Given the description of an element on the screen output the (x, y) to click on. 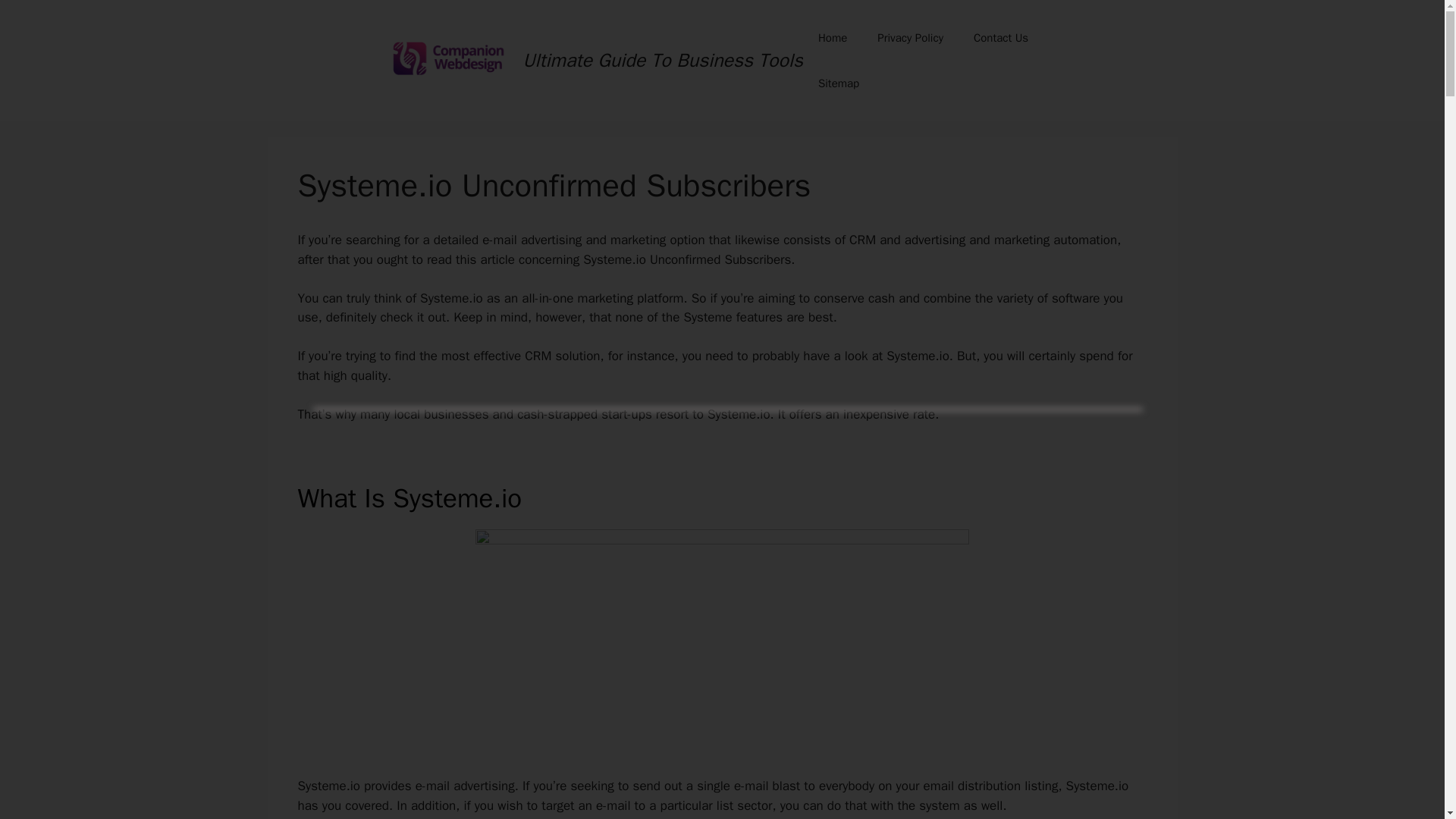
Sitemap (839, 83)
Privacy Policy (909, 37)
Ultimate Guide To Business Tools (662, 60)
Contact Us (1000, 37)
Home (832, 37)
